Given the description of an element on the screen output the (x, y) to click on. 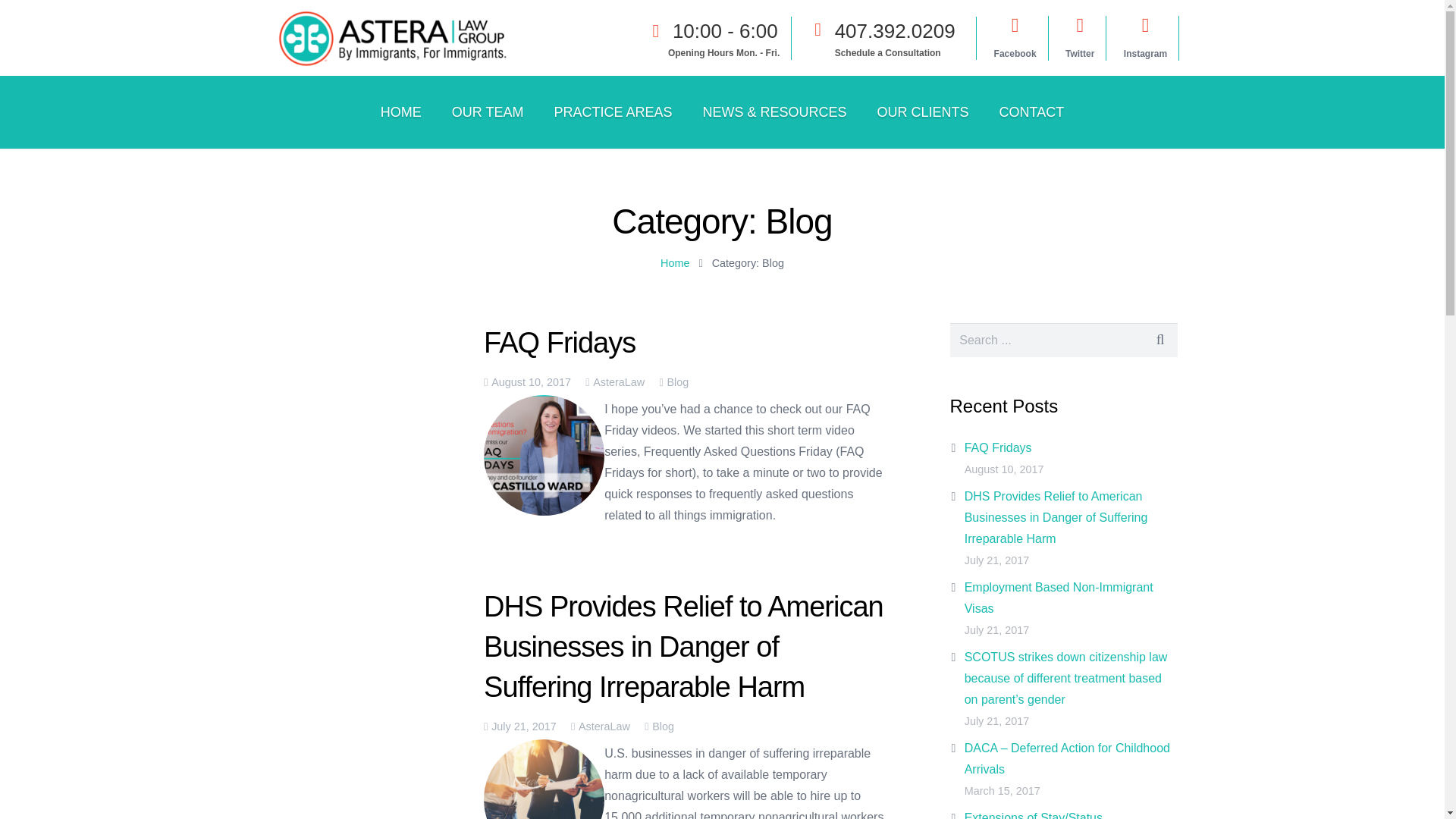
FAQ Fridays (558, 342)
PRACTICE AREAS (612, 112)
Home (674, 263)
CONTACT (1032, 112)
HOME (400, 112)
Blog (677, 381)
AsteraLaw (604, 726)
Blog (663, 726)
AsteraLaw (618, 381)
OUR CLIENTS (922, 112)
OUR TEAM (487, 112)
